Given the description of an element on the screen output the (x, y) to click on. 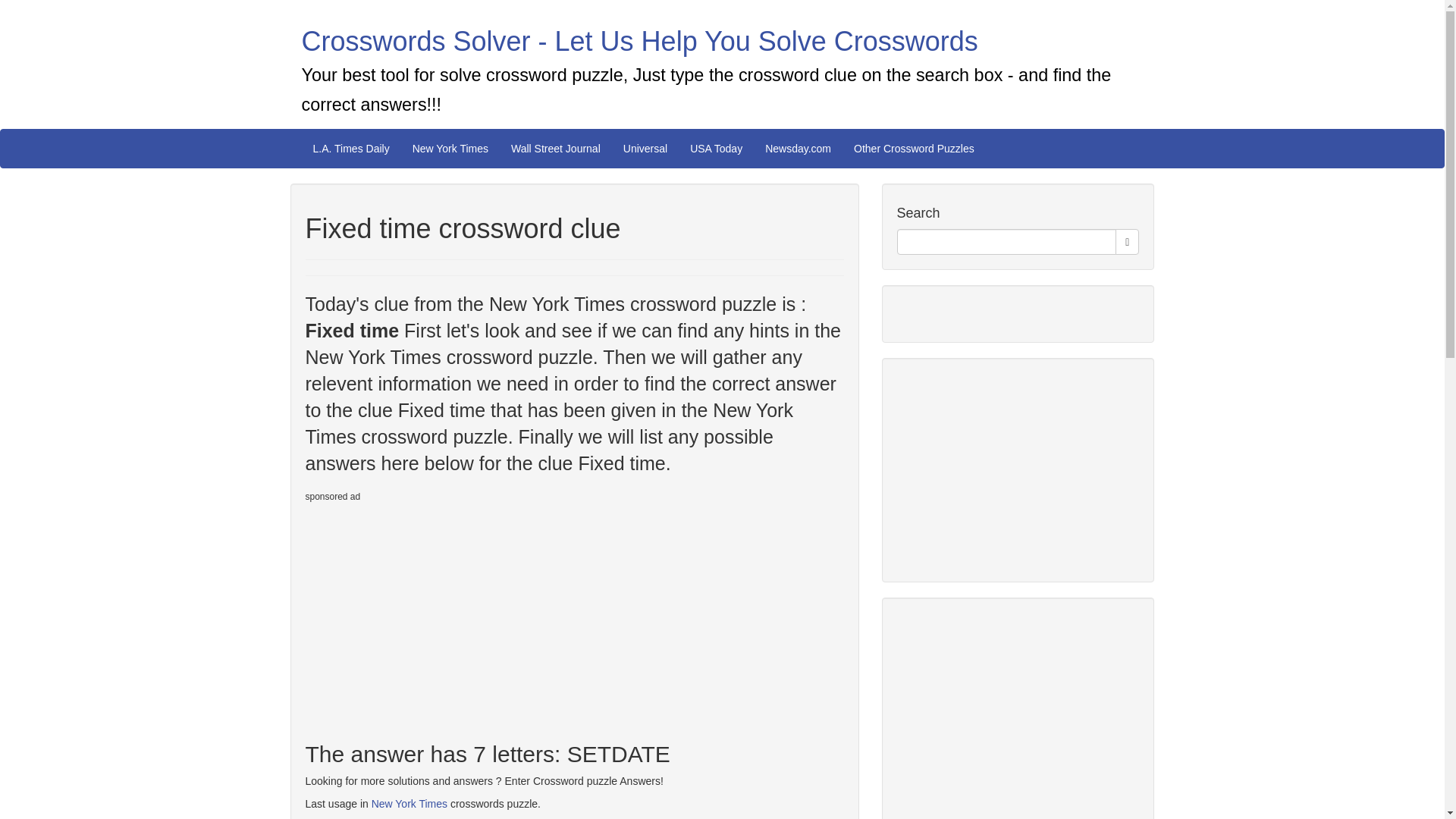
Advertisement (1010, 715)
Newsday.com (798, 148)
Wall Street Journal (555, 148)
L.A. Times Daily (351, 148)
Advertisement (431, 615)
New York Times (450, 148)
Advertisement (1010, 467)
New York Times (408, 803)
Universal (644, 148)
